Given the description of an element on the screen output the (x, y) to click on. 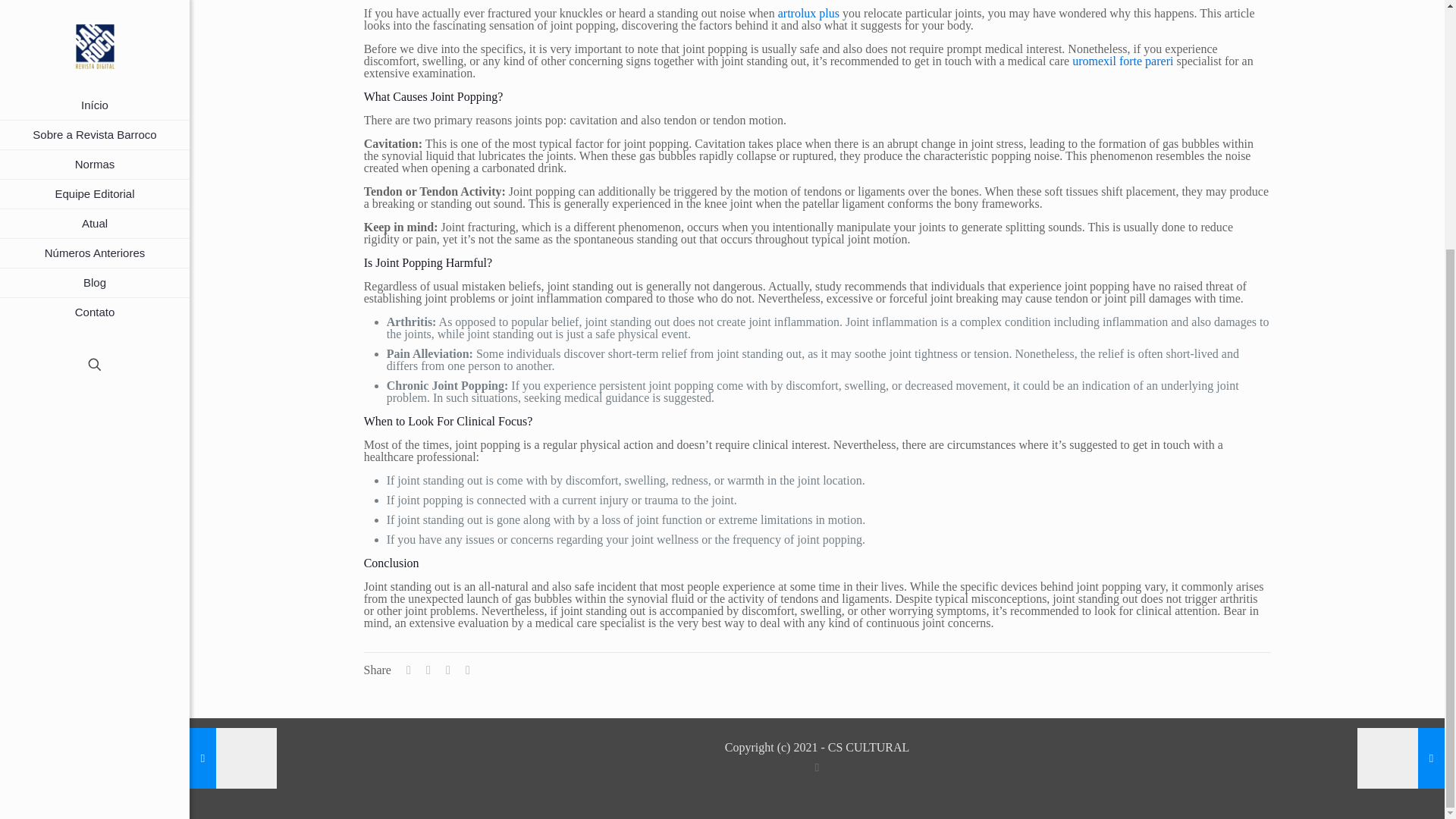
Facebook (816, 767)
uromexil forte pareri (1122, 60)
artrolux plus (808, 12)
Facebook (94, 449)
